Given the description of an element on the screen output the (x, y) to click on. 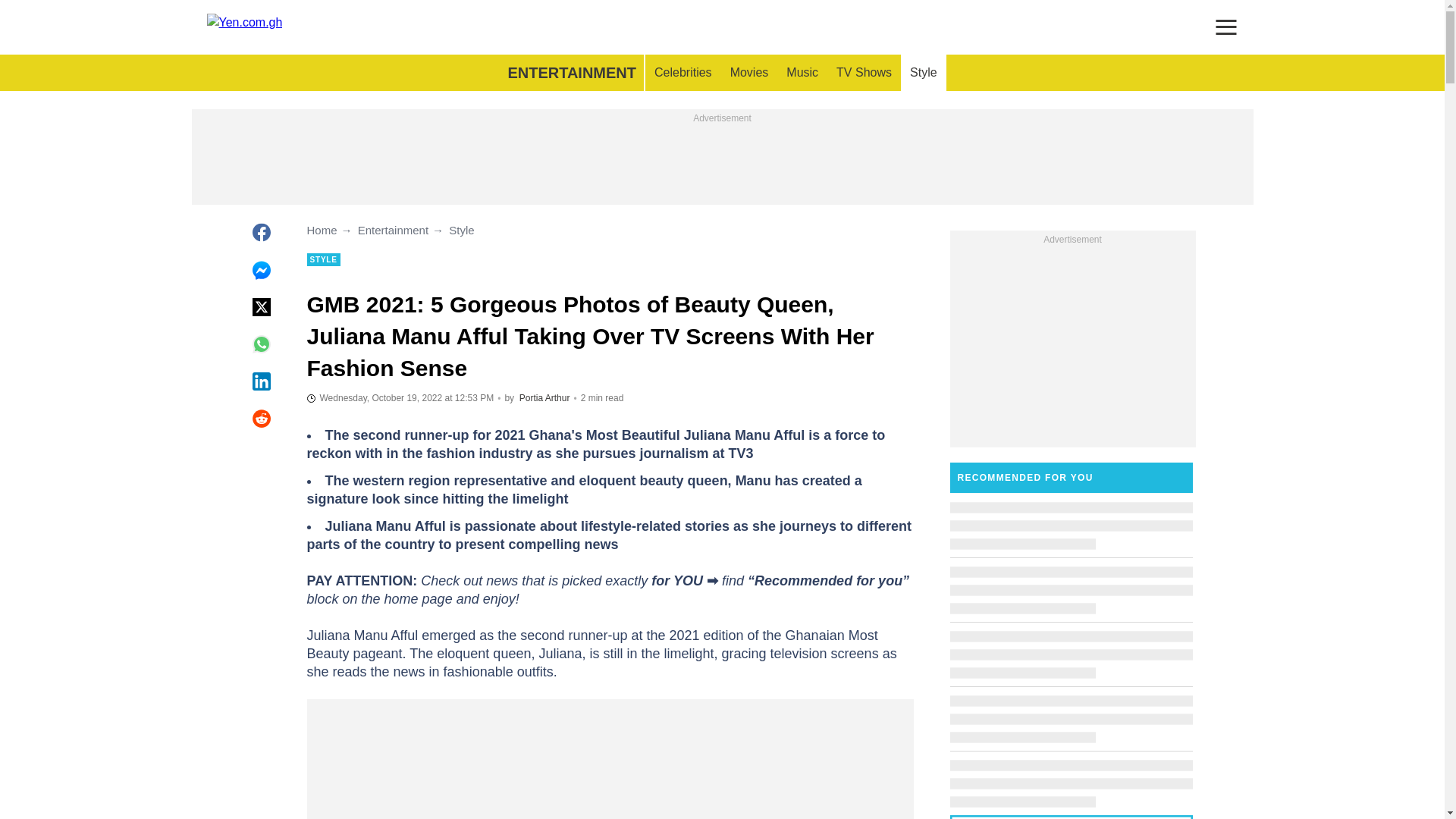
Movies (748, 72)
TV Shows (864, 72)
Music (802, 72)
ENTERTAINMENT (571, 72)
Style (923, 72)
Author page (544, 398)
2022-10-19T12:53:56Z (399, 398)
Celebrities (682, 72)
